Given the description of an element on the screen output the (x, y) to click on. 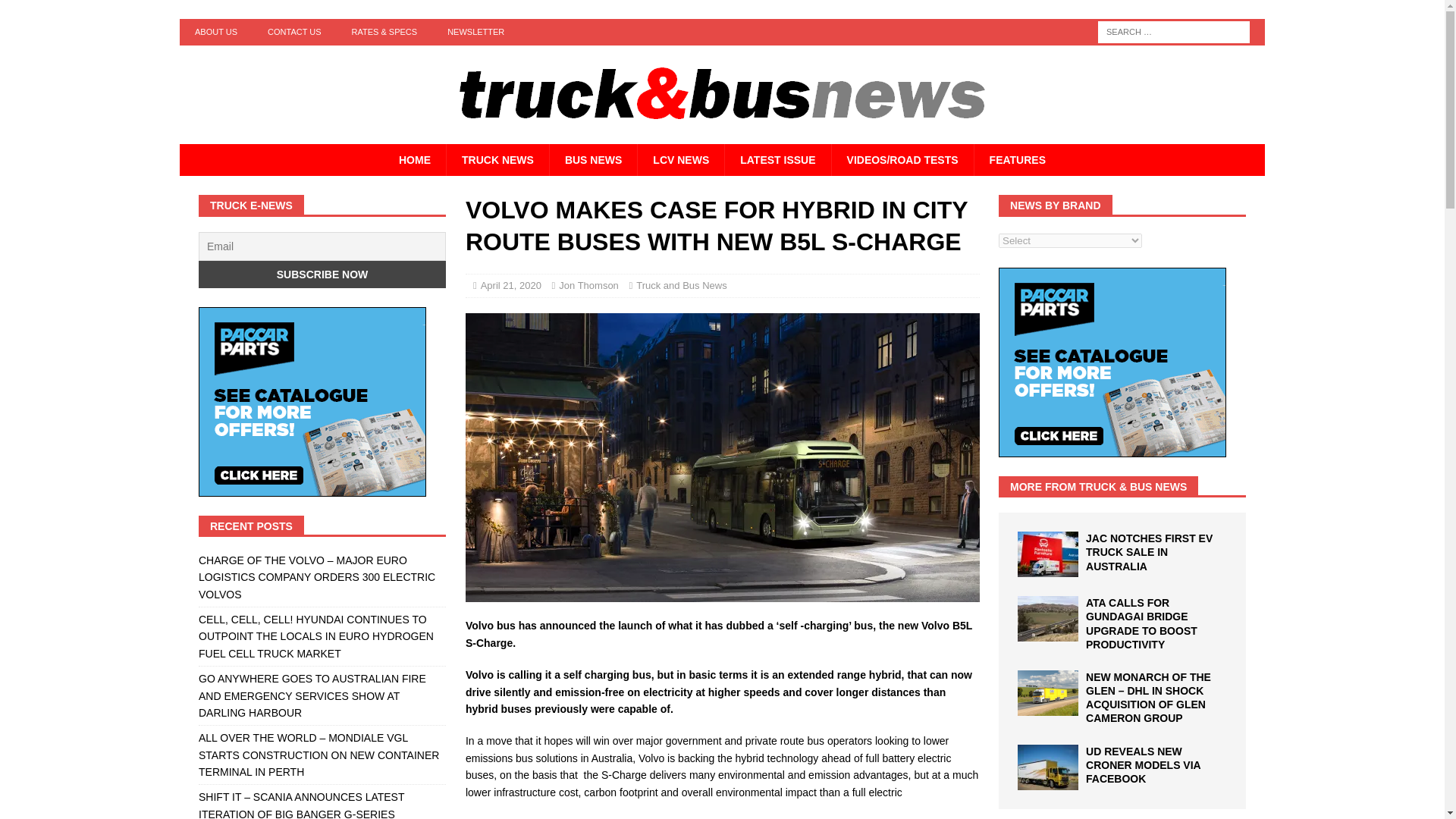
ABOUT US (215, 31)
BUS NEWS (592, 160)
FEATURES (1017, 160)
TRUCK NEWS (496, 160)
LATEST ISSUE (776, 160)
CONTACT US (293, 31)
Truck and Bus News (681, 285)
HOME (414, 160)
LCV NEWS (680, 160)
Subscribe Now (321, 274)
